Given the description of an element on the screen output the (x, y) to click on. 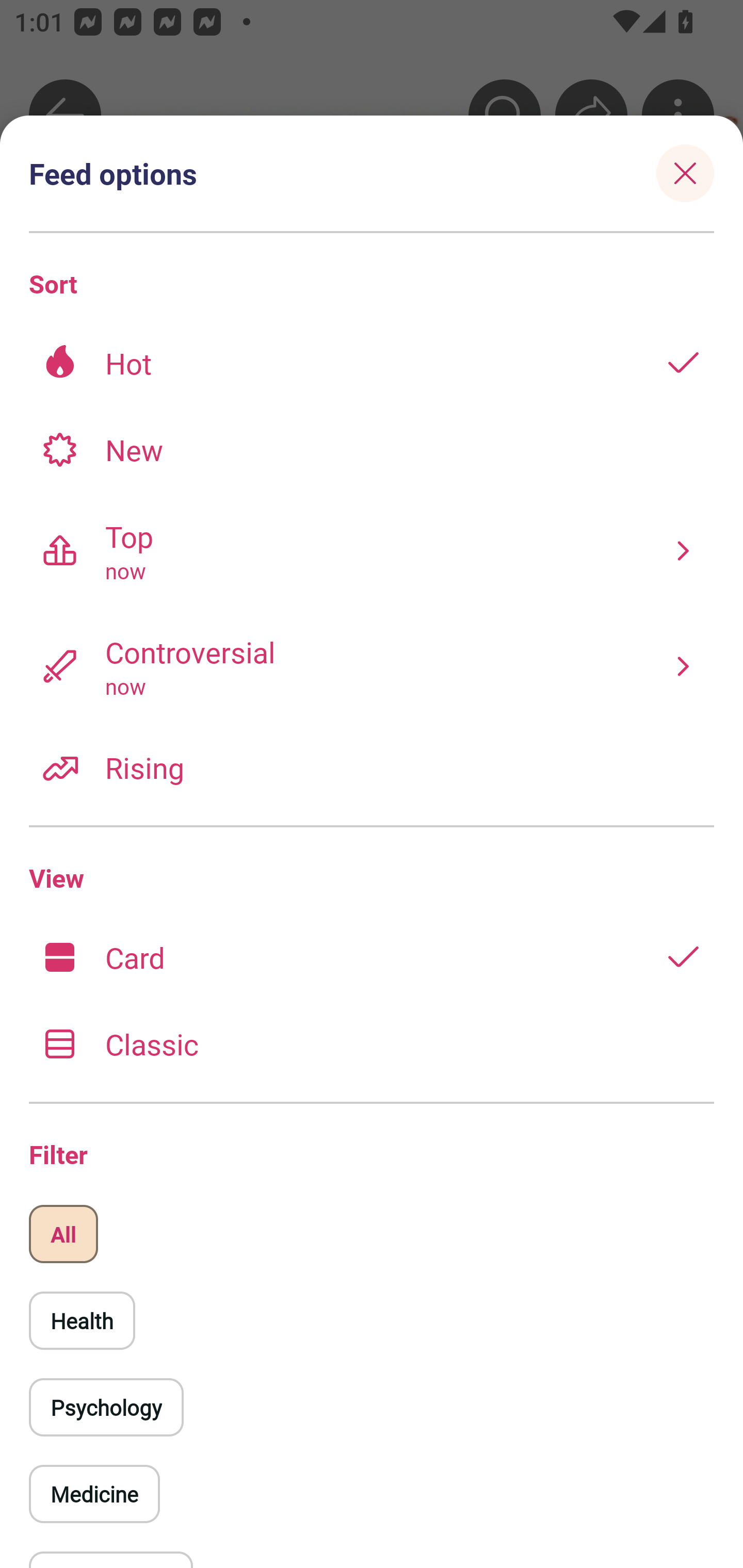
Close sheet (684, 173)
Hot (371, 362)
New (371, 449)
Top now (371, 550)
Controversial now (371, 666)
Rising (371, 767)
Card (371, 957)
Classic (371, 1043)
All (63, 1233)
Health (81, 1320)
Psychology (105, 1407)
Medicine (93, 1493)
